Given the description of an element on the screen output the (x, y) to click on. 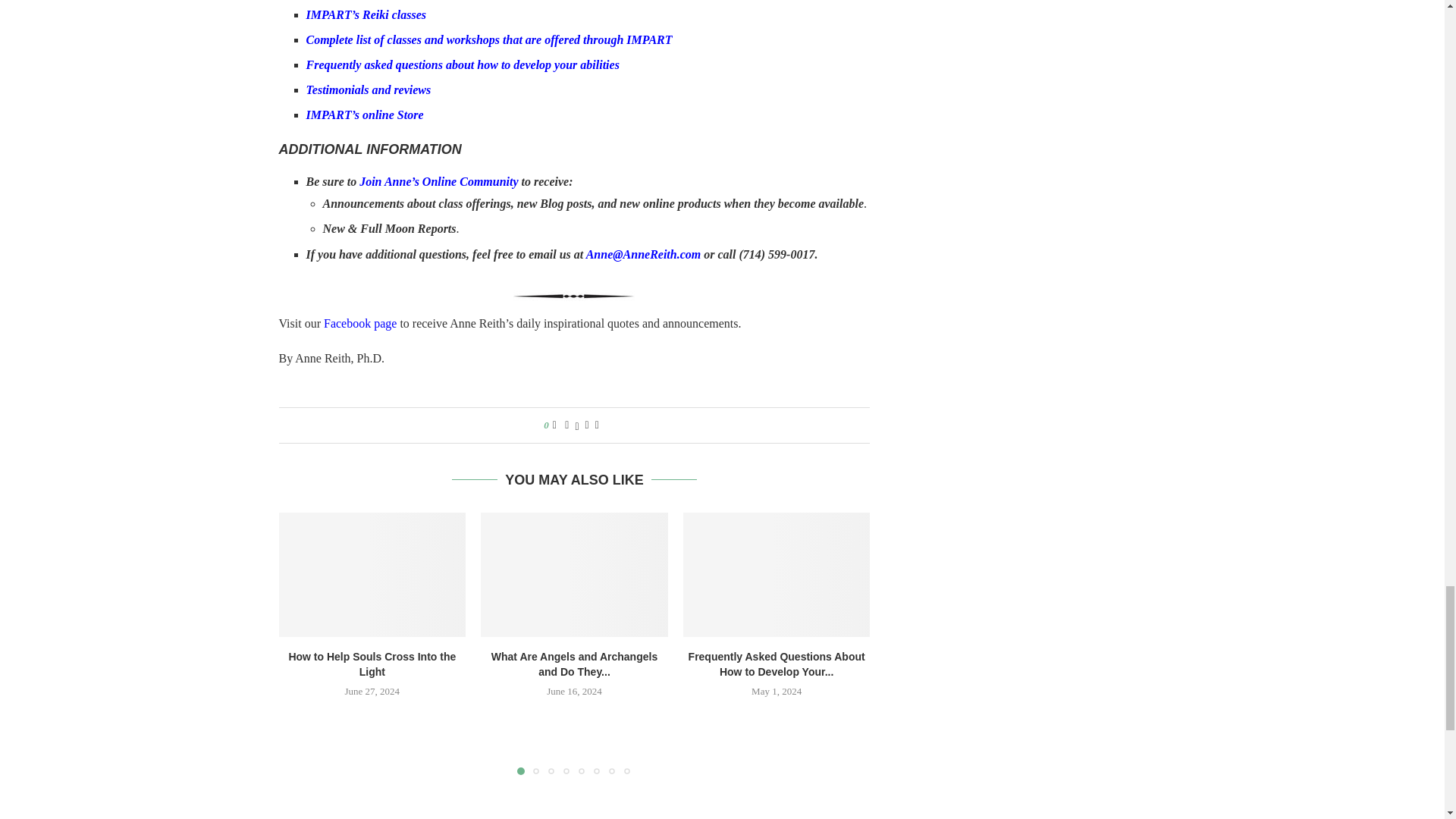
Like (554, 425)
How to Help Souls Cross Into the Light (372, 574)
